Given the description of an element on the screen output the (x, y) to click on. 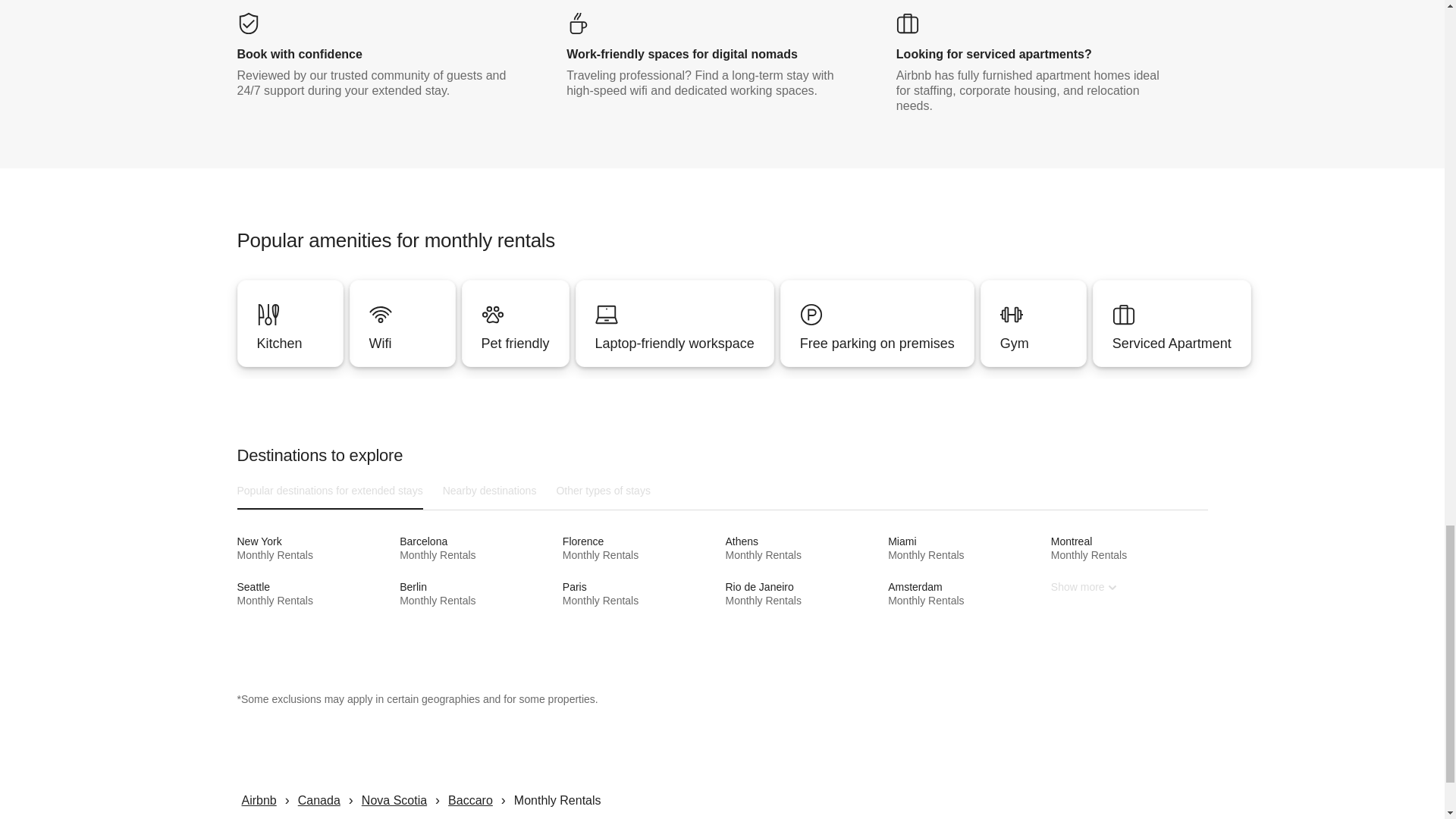
Serviced Apartment (1171, 343)
Laptop-friendly workspace (477, 547)
Kitchen (674, 343)
Gym (288, 323)
Kitchen (1033, 343)
Free parking on premises (288, 323)
Nearby destinations (477, 593)
Pet friendly (877, 343)
Laptop-friendly workspace (489, 490)
Laptop-friendly workspace (314, 593)
